Given the description of an element on the screen output the (x, y) to click on. 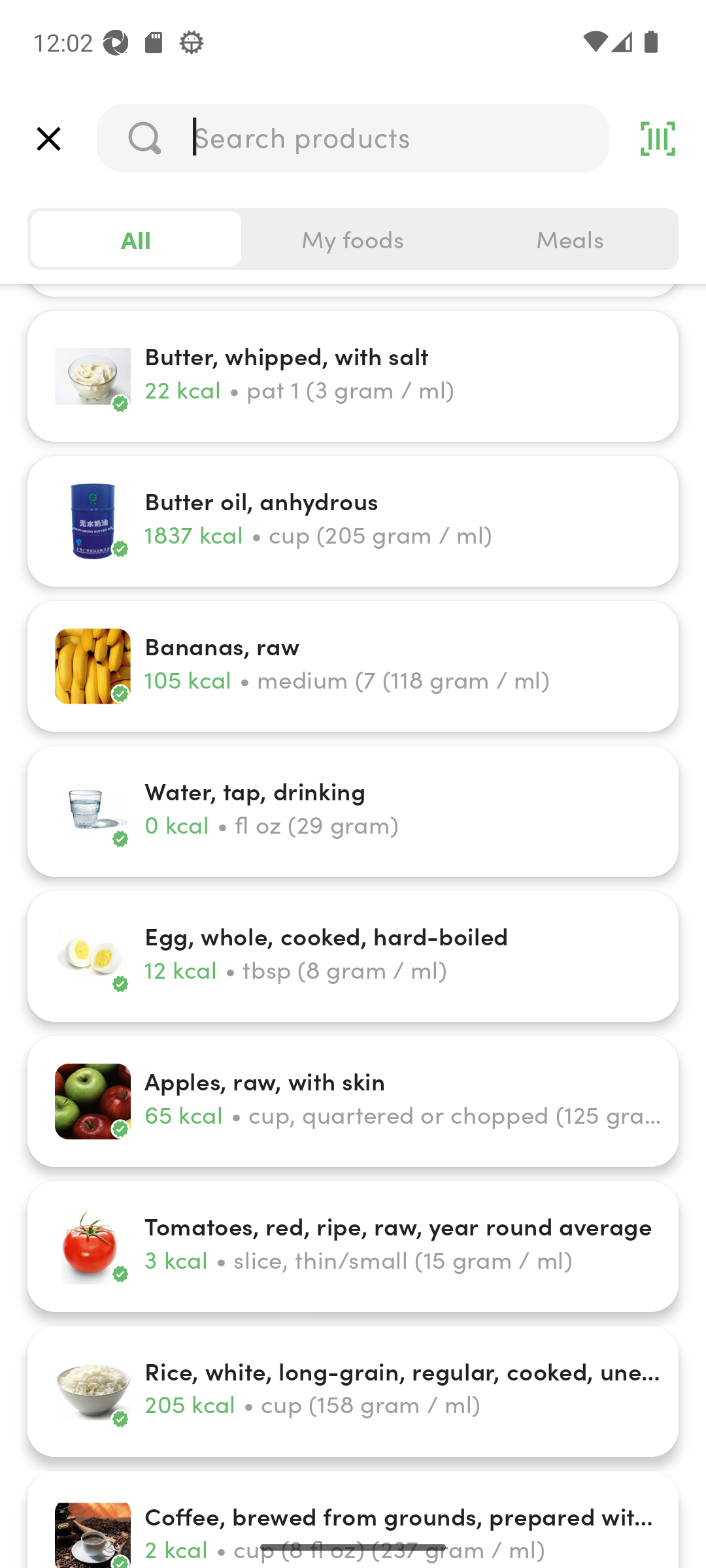
top_left_action (48, 138)
top_right_action (658, 138)
My foods (352, 238)
Meals (569, 238)
Bananas, raw 105 kcal  • medium (7 (118 gram / ml) (352, 666)
Water, tap, drinking 0 kcal  • fl oz (29 gram) (352, 811)
